Given the description of an element on the screen output the (x, y) to click on. 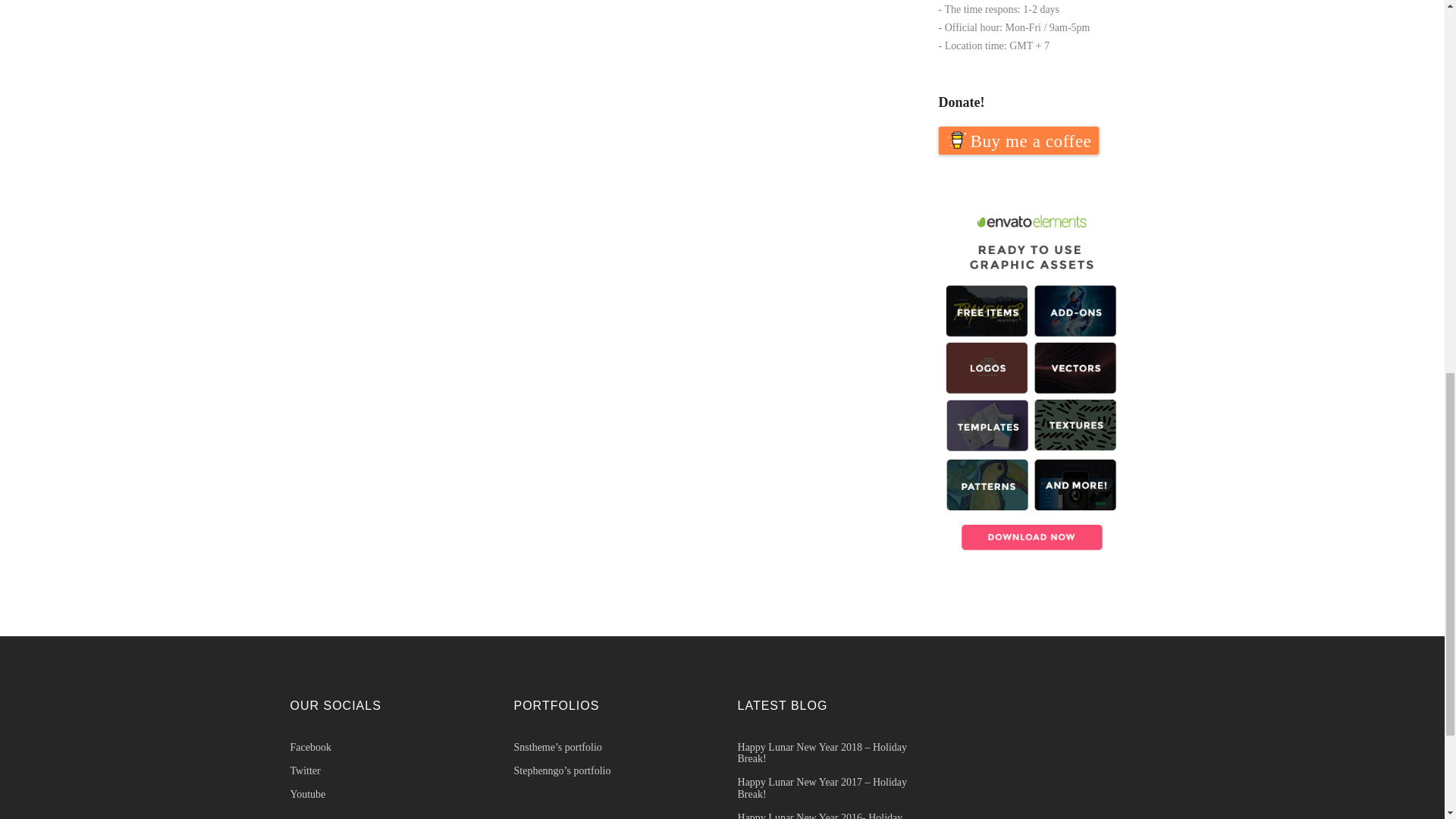
Twitter (386, 770)
Buy me a coffee (1019, 140)
Facebook (386, 747)
